Given the description of an element on the screen output the (x, y) to click on. 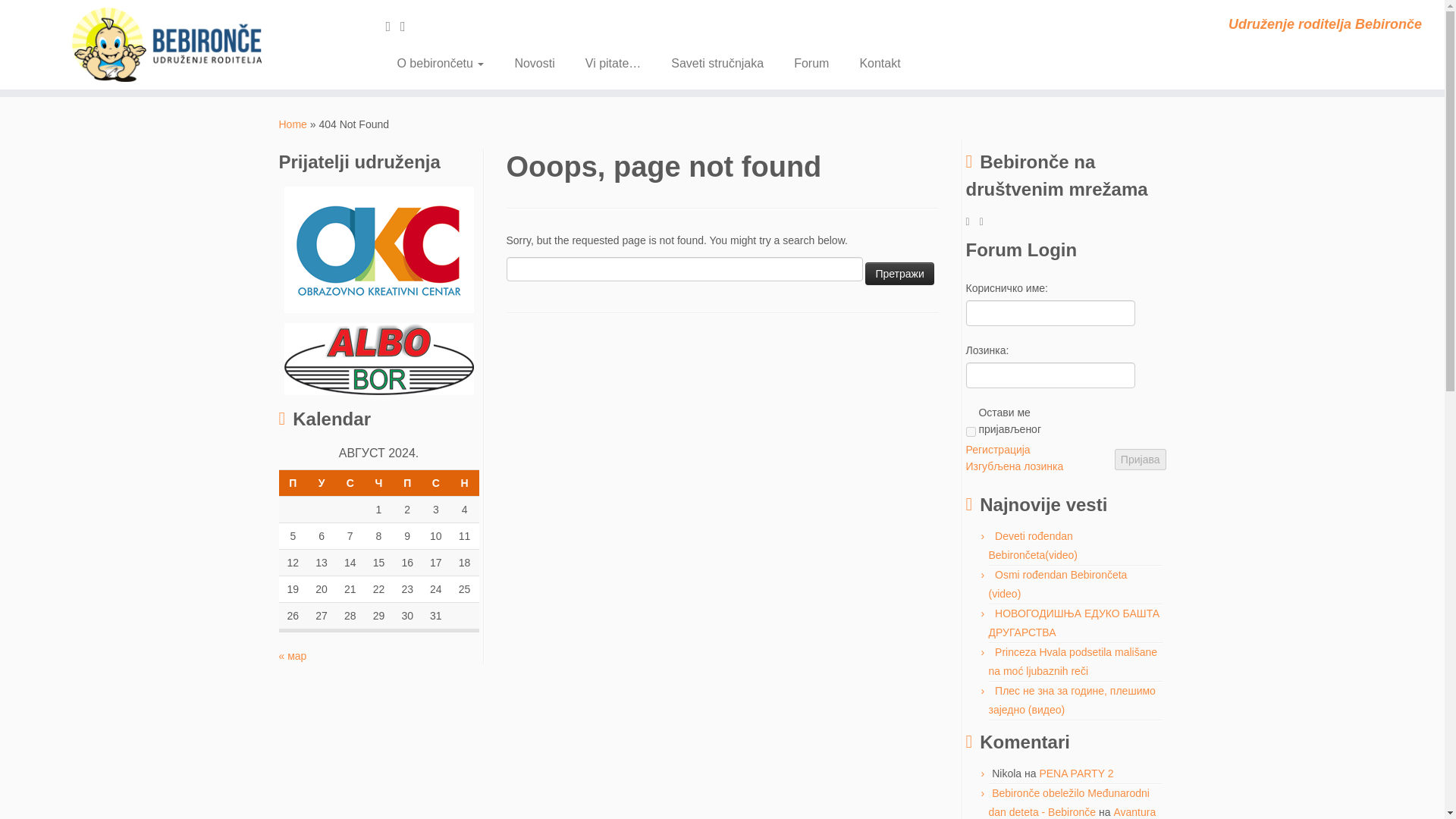
Novosti (534, 62)
Kontakt (871, 62)
Forum (811, 62)
forever (970, 431)
Follow me on Facebook (407, 26)
Home (293, 123)
Subscribe to my rss feed (392, 26)
PENA PARTY 2 (1076, 773)
Obrazovno kreativni centar (378, 249)
Albo (378, 358)
